Given the description of an element on the screen output the (x, y) to click on. 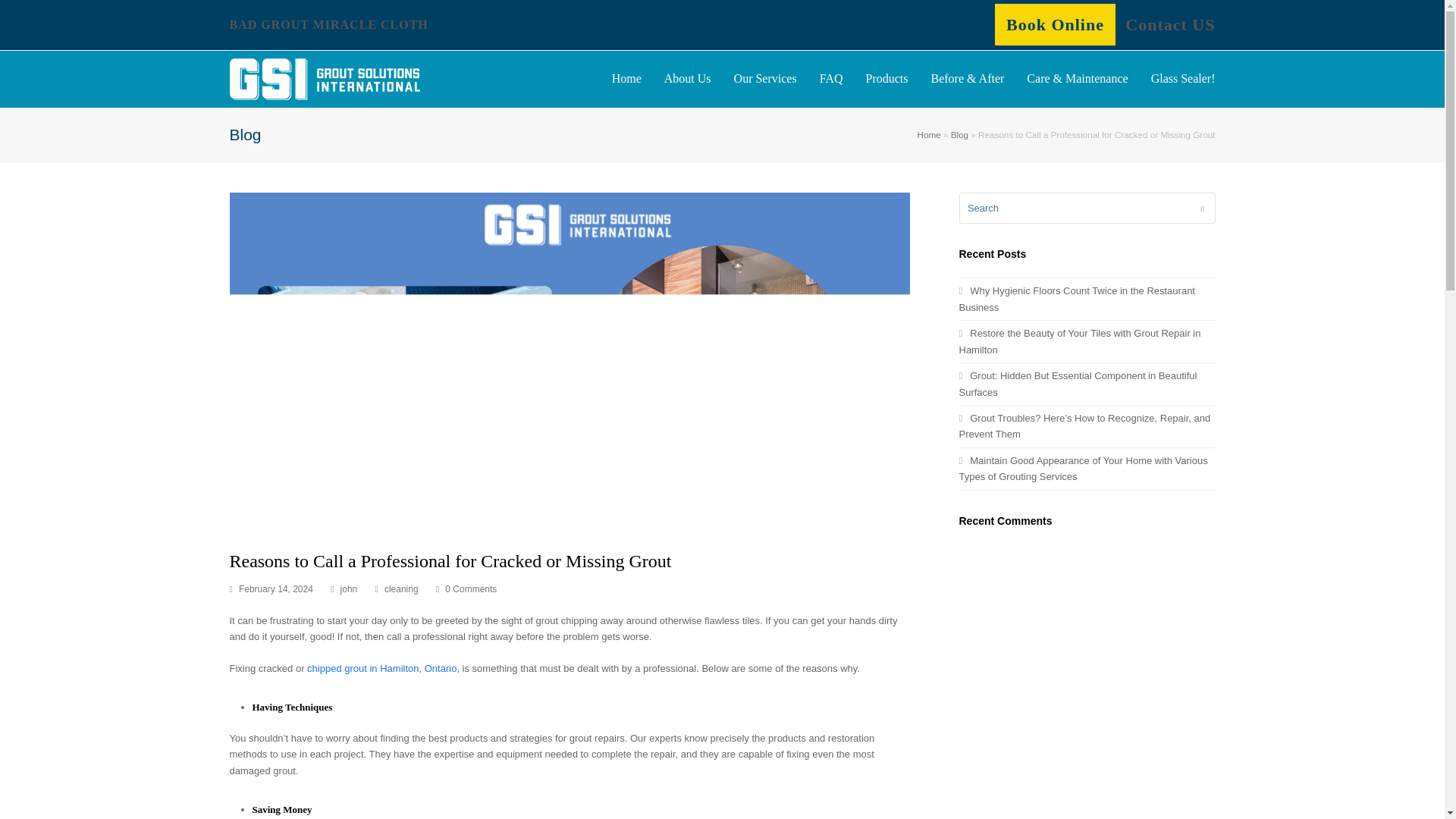
Home (928, 134)
0 Comments (470, 588)
Posts by john (349, 588)
Contact US (1169, 24)
chipped grout in Hamilton, Ontario (382, 668)
Products (885, 79)
cleaning (401, 588)
Our Services (765, 79)
john (349, 588)
Why Hygienic Floors Count Twice in the Restaurant Business (1075, 298)
